Given the description of an element on the screen output the (x, y) to click on. 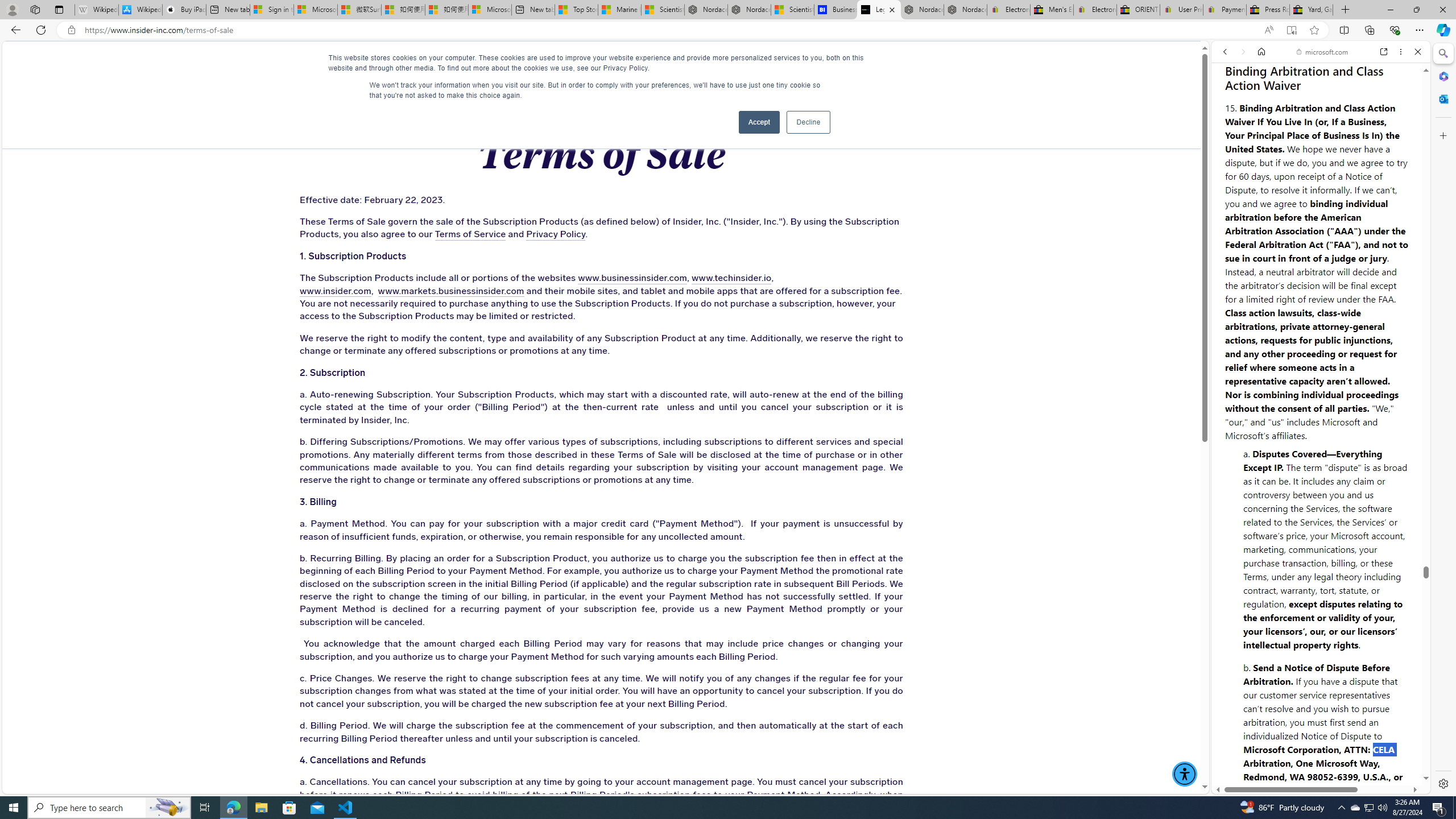
CONTACT US (942, 62)
www.businessinsider.com (632, 278)
Yard, Garden & Outdoor Living (1311, 9)
This site scope (1259, 102)
Microsoft account | Account Checkup (489, 9)
Nordace - Summer Adventures 2024 (922, 9)
